Given the description of an element on the screen output the (x, y) to click on. 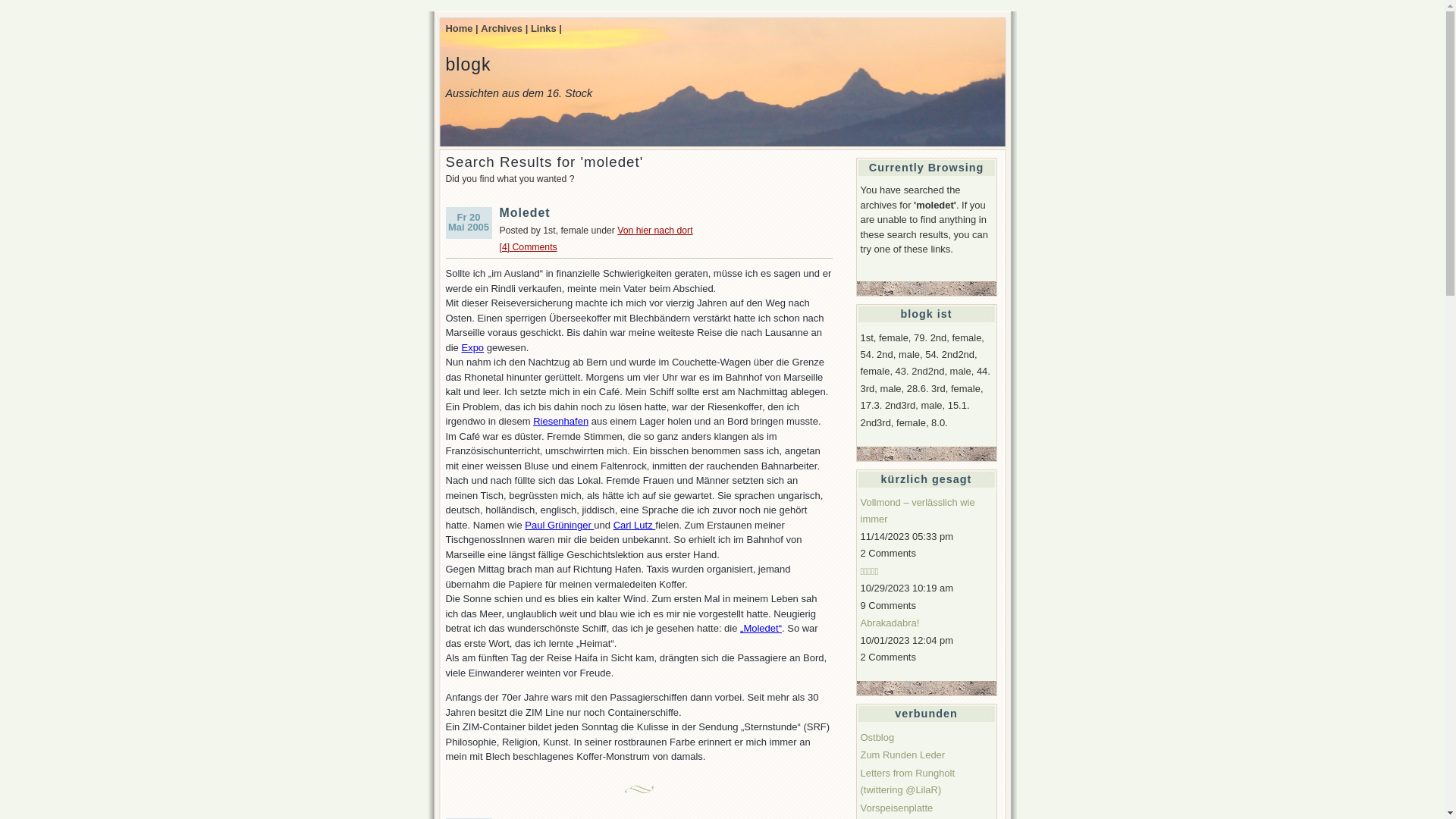
Ostblog Element type: text (876, 737)
Moledet Element type: text (523, 212)
Links | Element type: text (545, 28)
Archives | Element type: text (503, 28)
Letters from Rungholt (twittering @LilaR) Element type: text (906, 781)
Vorspeisenplatte Element type: text (895, 807)
blogk Element type: text (468, 64)
Carl Lutz Element type: text (634, 524)
Riesenhafen Element type: text (560, 420)
Home | Element type: text (461, 28)
[4] Comments Element type: text (527, 246)
Zum Runden Leder Element type: text (901, 754)
Abrakadabra! Element type: text (889, 622)
Von hier nach dort Element type: text (654, 230)
Expo Element type: text (472, 347)
